Given the description of an element on the screen output the (x, y) to click on. 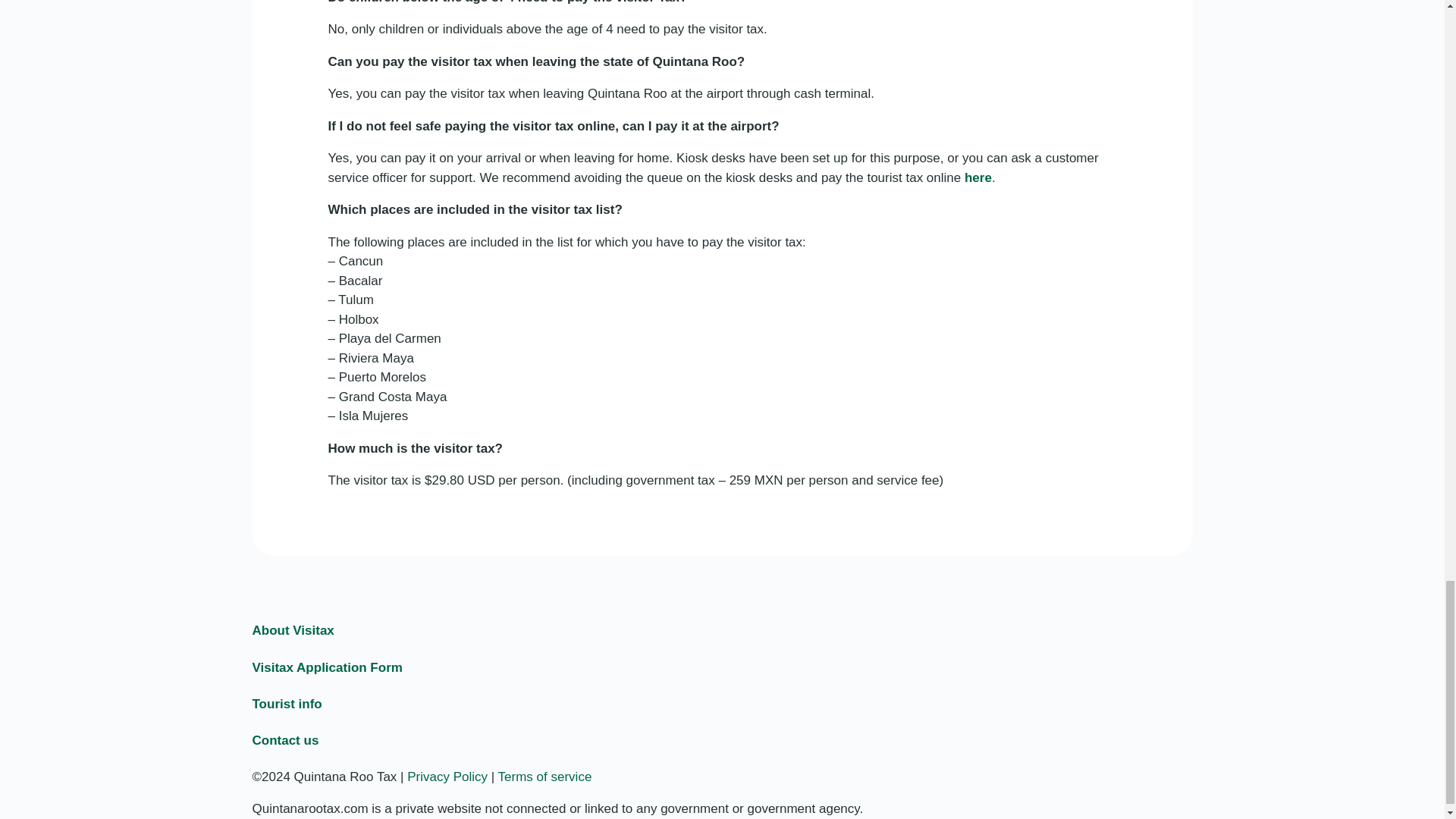
here (977, 177)
Privacy Policy (447, 776)
Tourist info (286, 703)
Terms of service (544, 776)
Contact us (284, 740)
About Visitax (292, 630)
Visitax Application Form (326, 667)
